Given the description of an element on the screen output the (x, y) to click on. 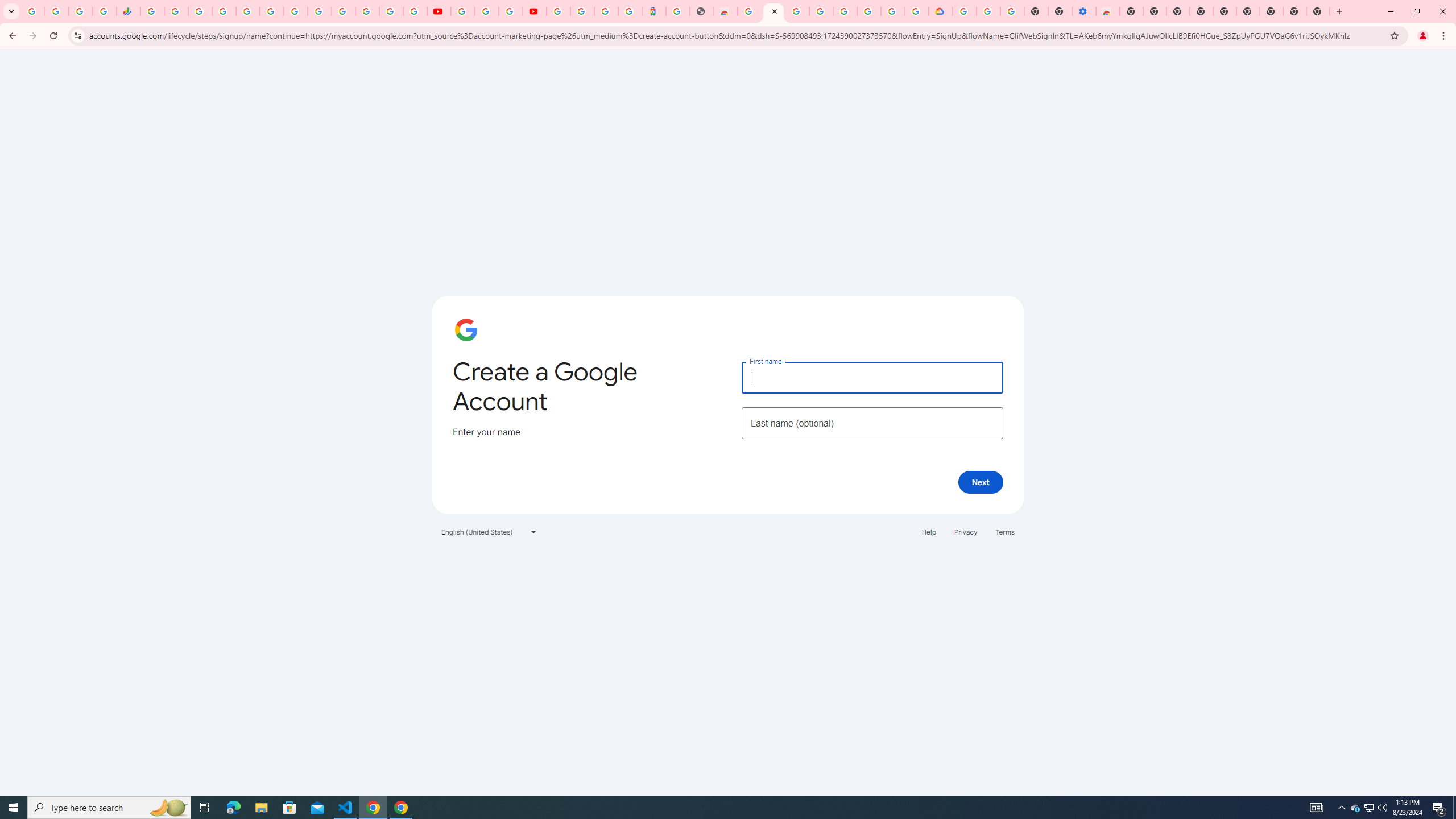
Sign in - Google Accounts (343, 11)
Privacy Checkup (414, 11)
Atour Hotel - Google hotels (654, 11)
Sign in - Google Accounts (581, 11)
